Given the description of an element on the screen output the (x, y) to click on. 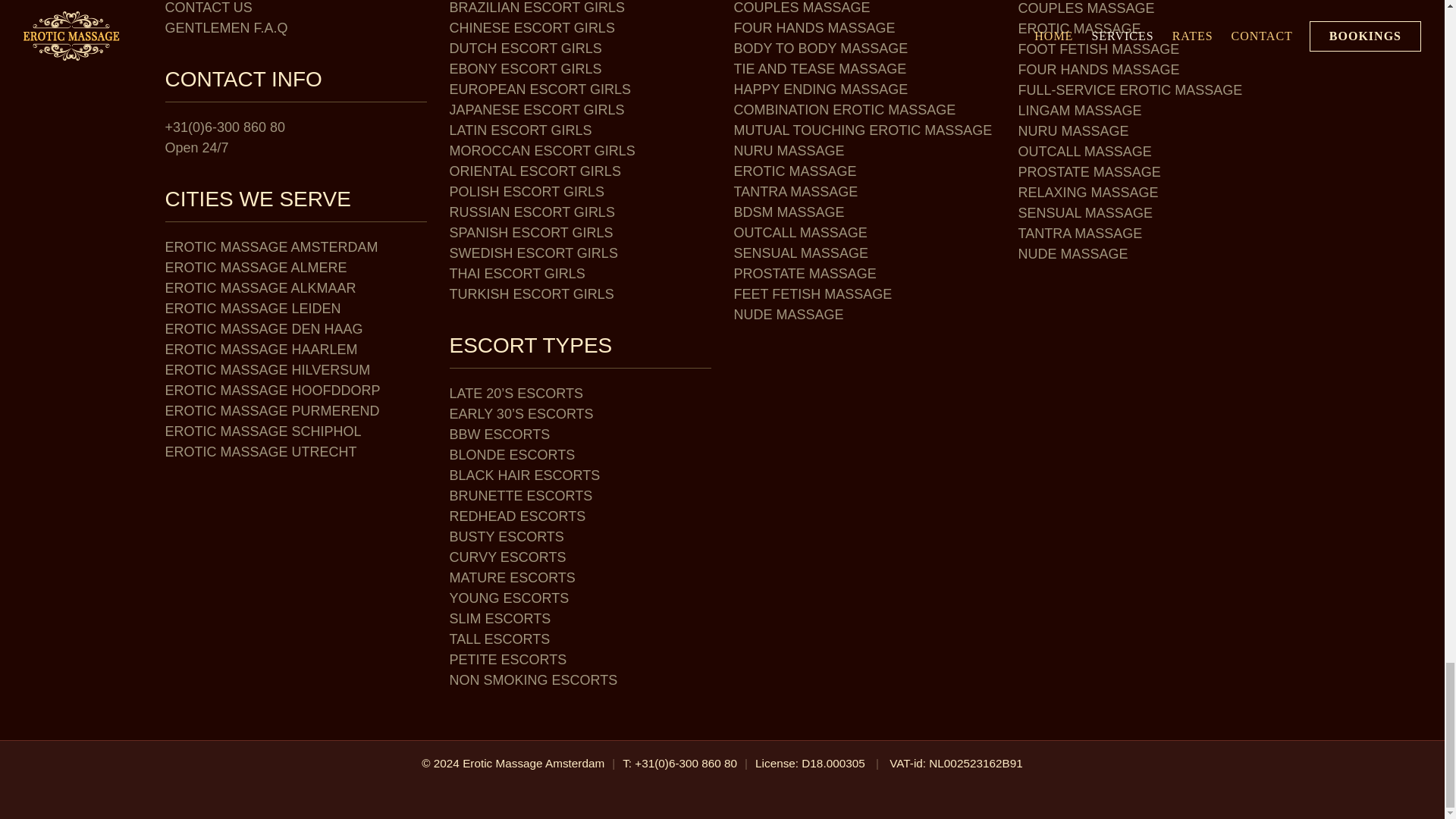
EROTIC MASSAGE DEN HAAG (263, 328)
EROTIC MASSAGE AMSTERDAM (271, 246)
EROTIC MASSAGE LEIDEN (252, 308)
EROTIC MASSAGE ALMERE (256, 267)
EROTIC MASSAGE ALKMAAR (260, 287)
GENTLEMEN F.A.Q (226, 28)
CONTACT US (208, 7)
